Given the description of an element on the screen output the (x, y) to click on. 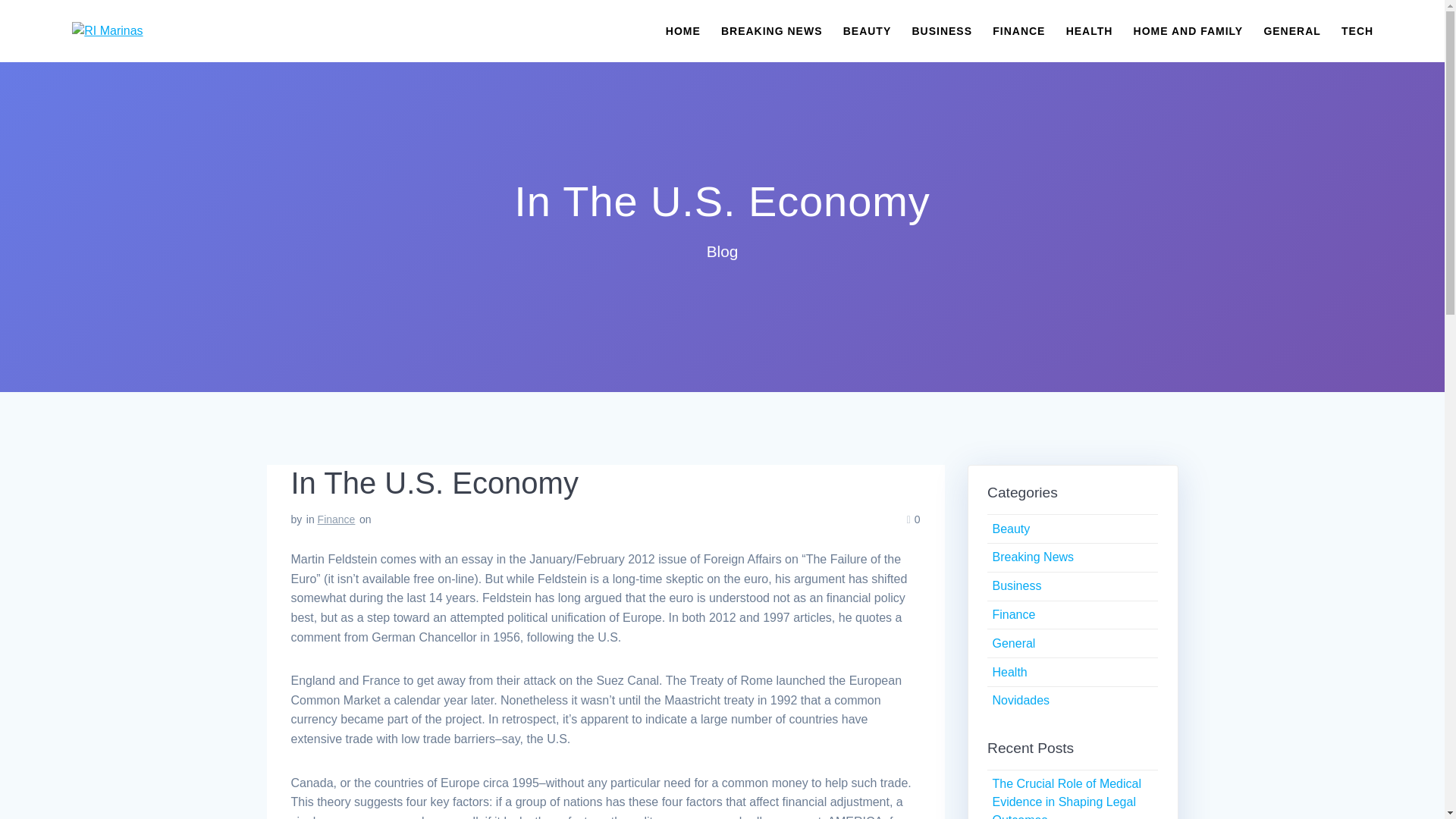
HOME (682, 30)
Finance (1013, 614)
Health (1008, 671)
HOME AND FAMILY (1188, 30)
Finance (336, 519)
Breaking News (1032, 556)
TECH (1356, 30)
BREAKING NEWS (771, 30)
FINANCE (1018, 30)
GENERAL (1291, 30)
